Given the description of an element on the screen output the (x, y) to click on. 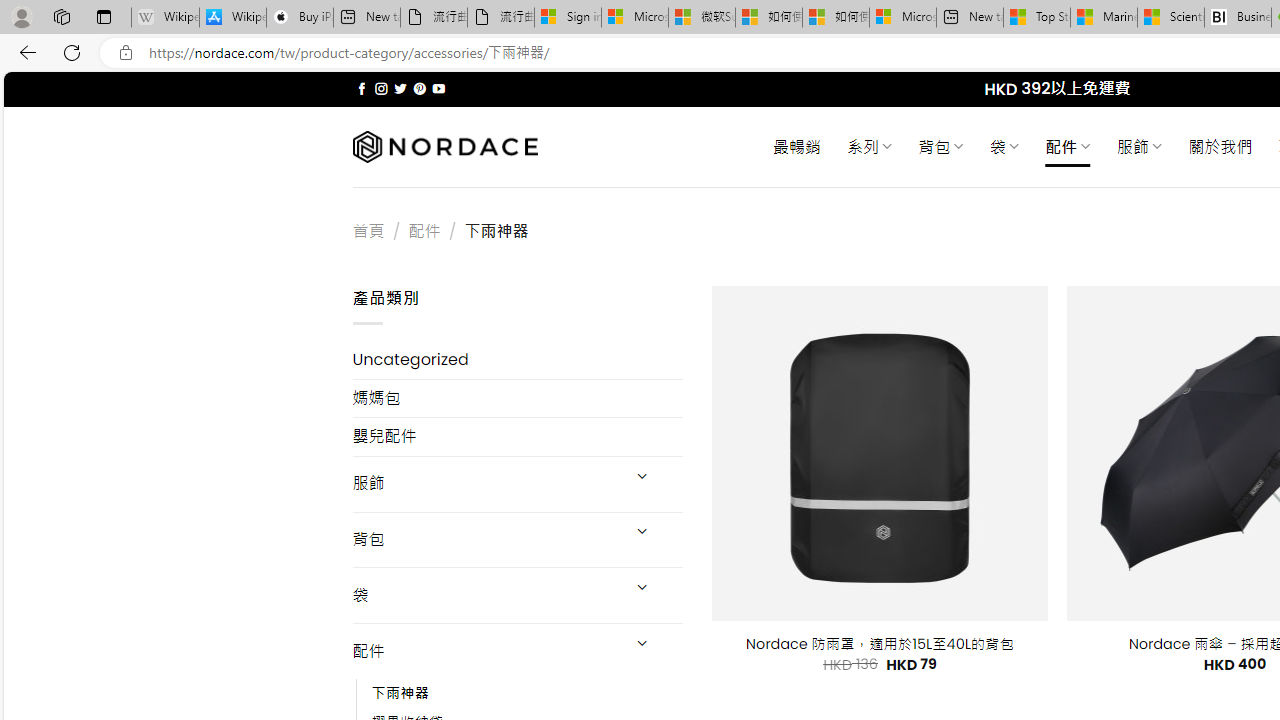
Marine life - MSN (1103, 17)
Buy iPad - Apple (299, 17)
Uncategorized (517, 359)
